Given the description of an element on the screen output the (x, y) to click on. 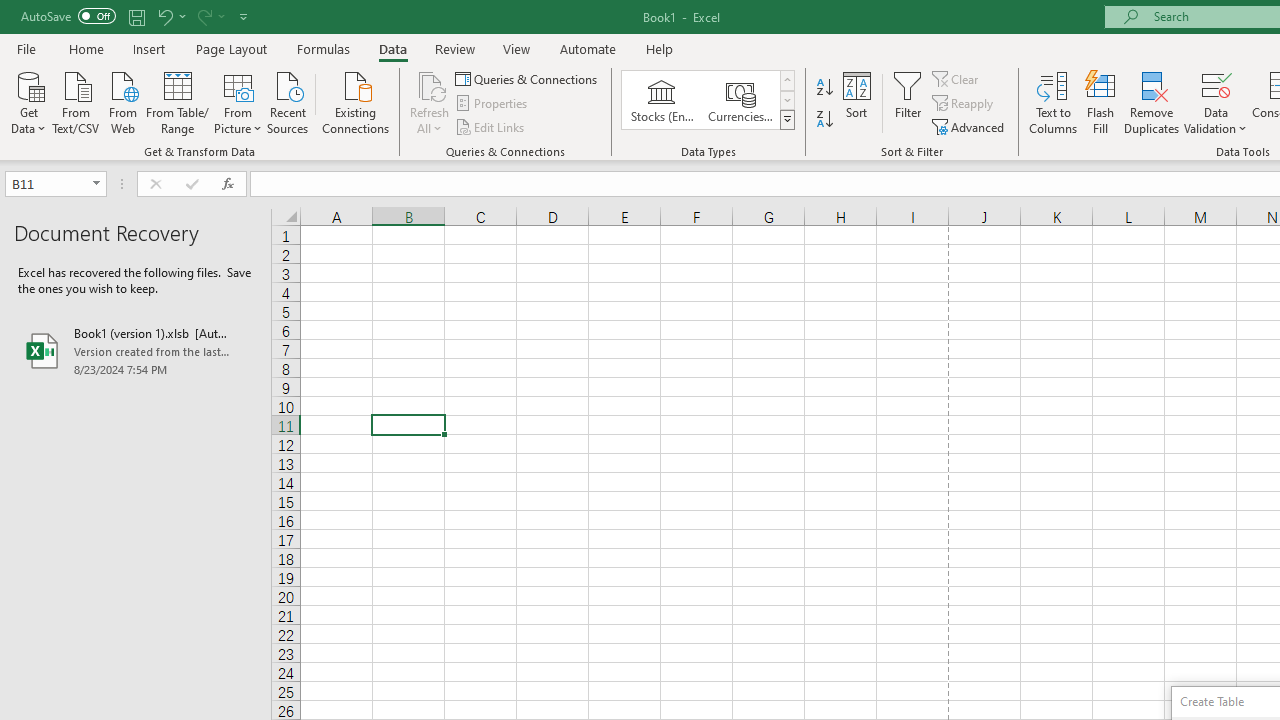
Properties (492, 103)
Existing Connections (355, 101)
Automate (588, 48)
Advanced... (970, 126)
Get Data (28, 101)
Row up (786, 79)
Sort Z to A (824, 119)
Class: NetUIImage (787, 119)
Edit Links (491, 126)
Data Types (786, 120)
From Text/CSV (75, 101)
